Given the description of an element on the screen output the (x, y) to click on. 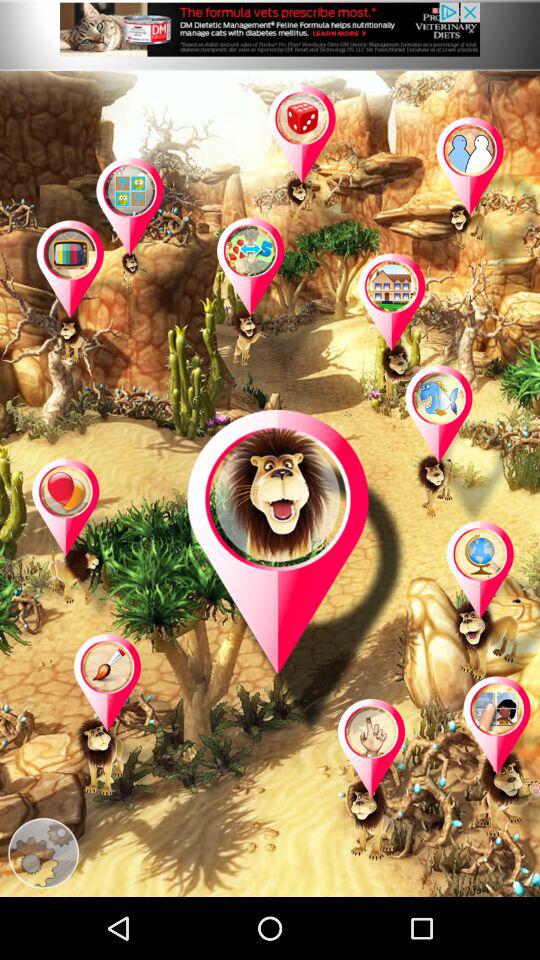
opens the advertisement (270, 35)
